Given the description of an element on the screen output the (x, y) to click on. 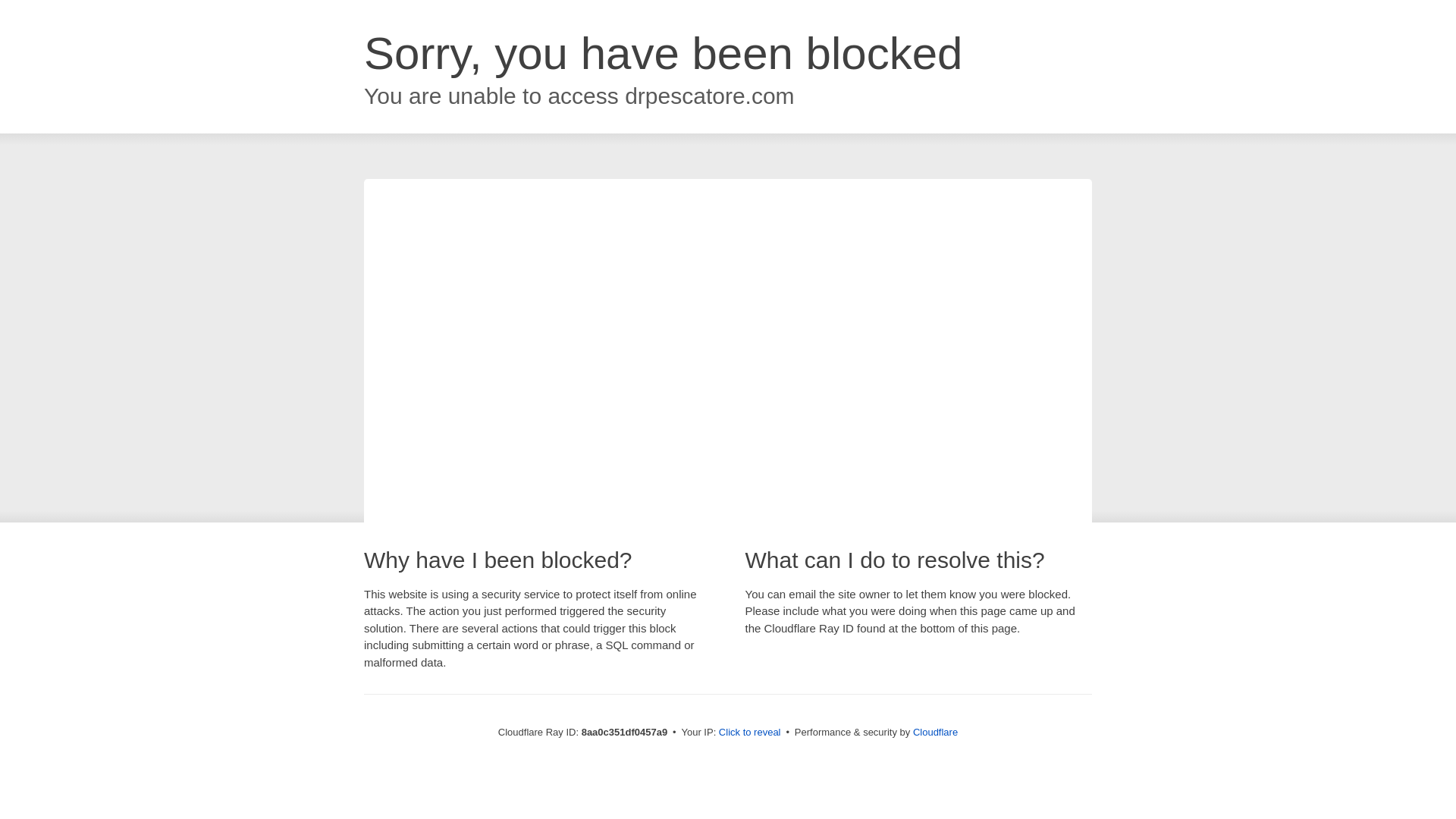
Cloudflare (935, 731)
Click to reveal (749, 732)
